Given the description of an element on the screen output the (x, y) to click on. 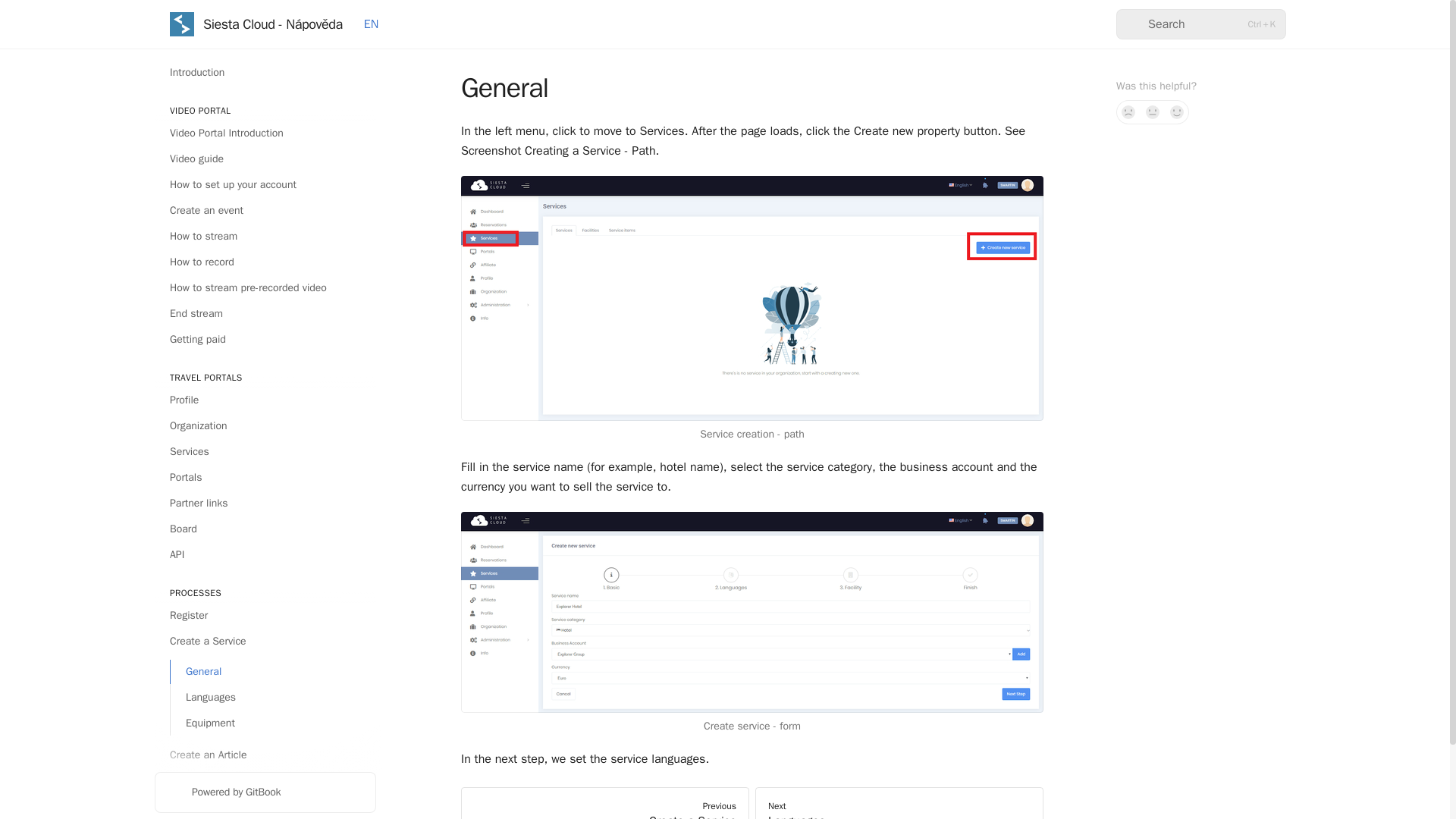
No (1128, 111)
How to stream (264, 236)
How to stream pre-recorded video (264, 288)
Introduction (264, 72)
Profile (264, 400)
Services (264, 451)
How to set up your account (264, 184)
Create an event (264, 210)
Not sure (1152, 111)
Yes, it was! (1176, 111)
